Given the description of an element on the screen output the (x, y) to click on. 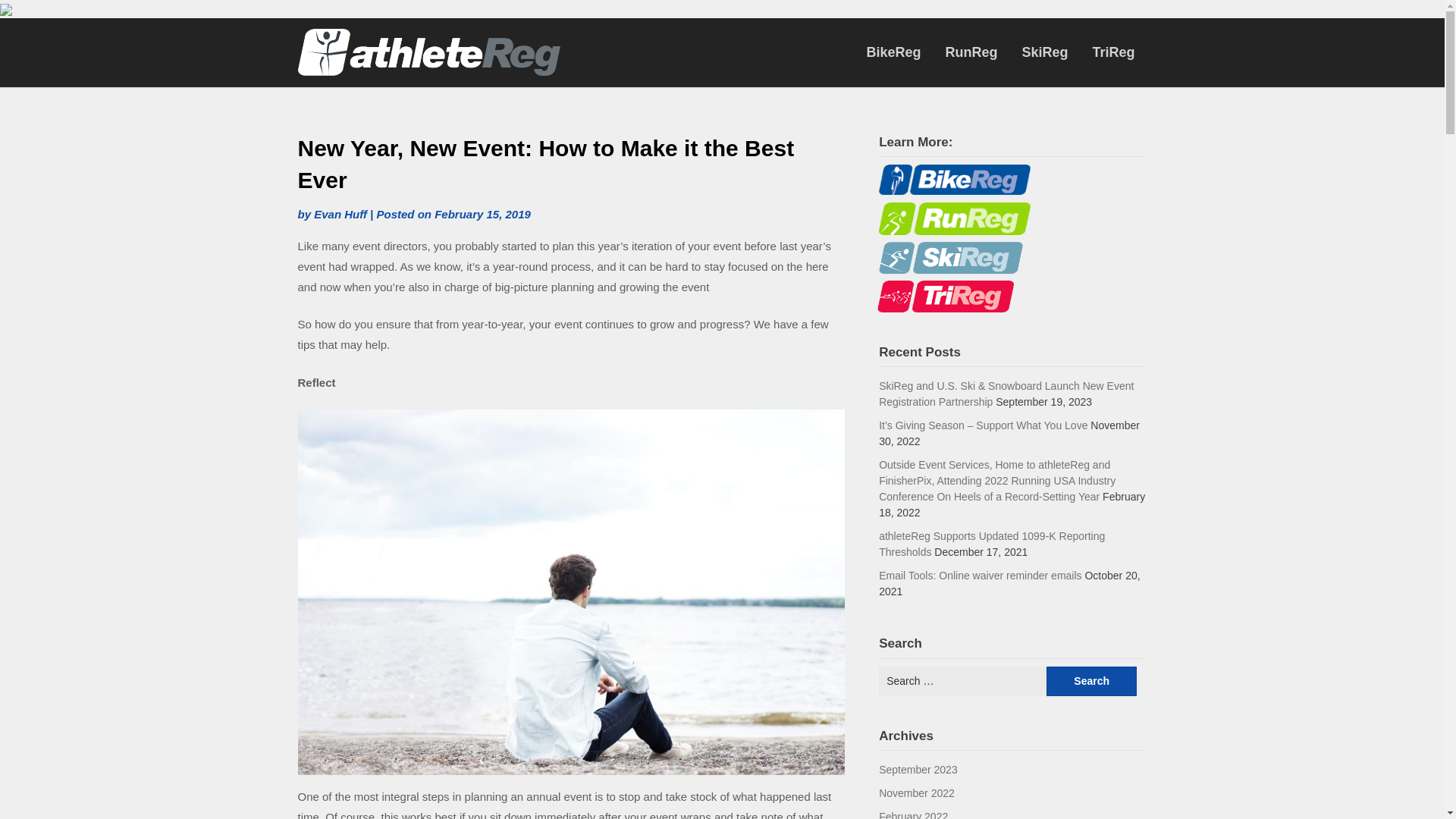
athleteReg Blog (610, 50)
Search (1091, 680)
February 15, 2019 (482, 214)
Email Tools: Online waiver reminder emails (980, 575)
Evan Huff (340, 214)
Search (1091, 680)
athleteReg Supports Updated 1099-K Reporting Thresholds (992, 543)
BikeReg (893, 52)
TriReg (1113, 52)
